Given the description of an element on the screen output the (x, y) to click on. 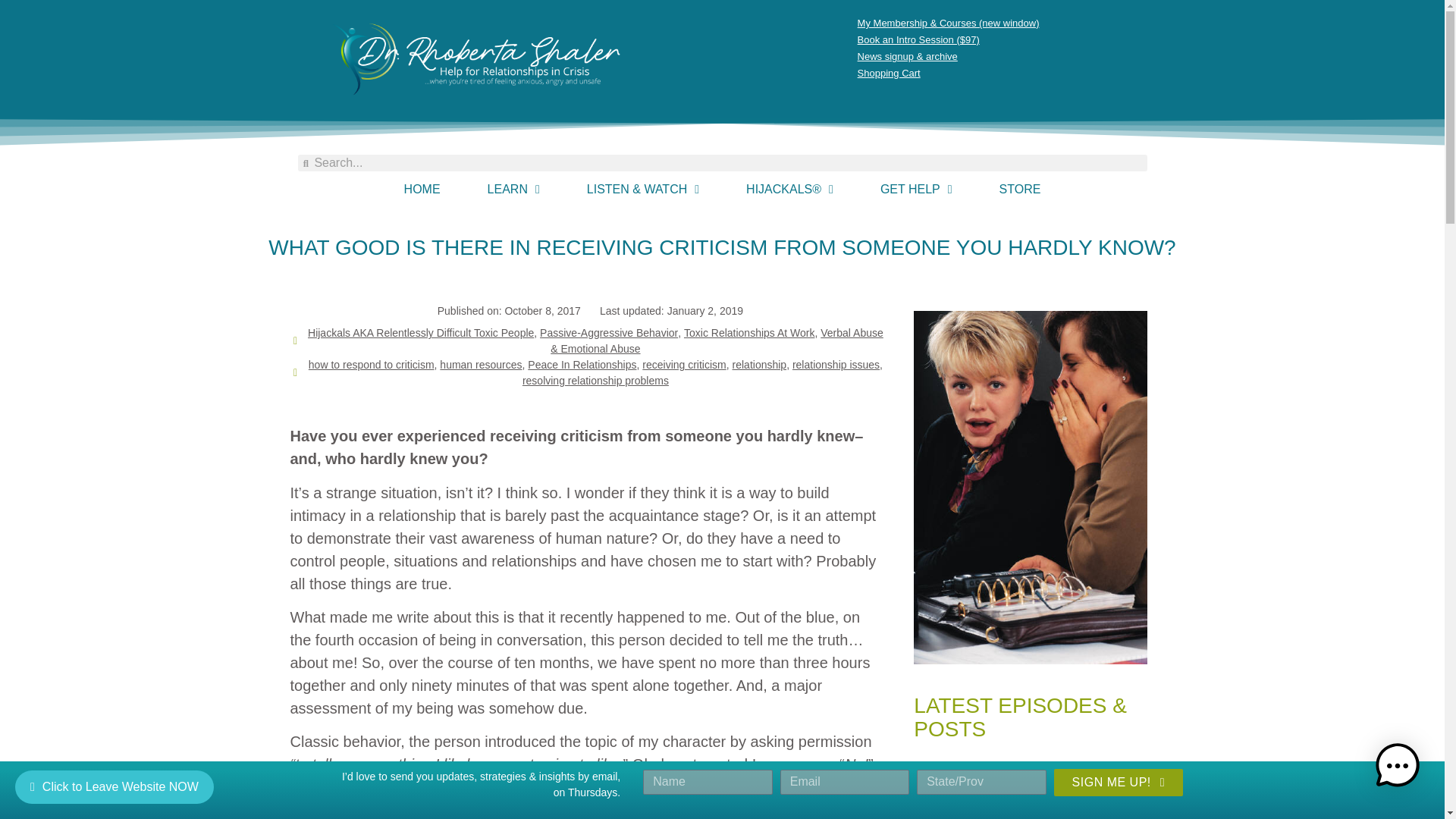
HOME (421, 189)
LEARN (512, 189)
Click to Leave Website NOW (114, 786)
Shopping Cart (1011, 73)
